Given the description of an element on the screen output the (x, y) to click on. 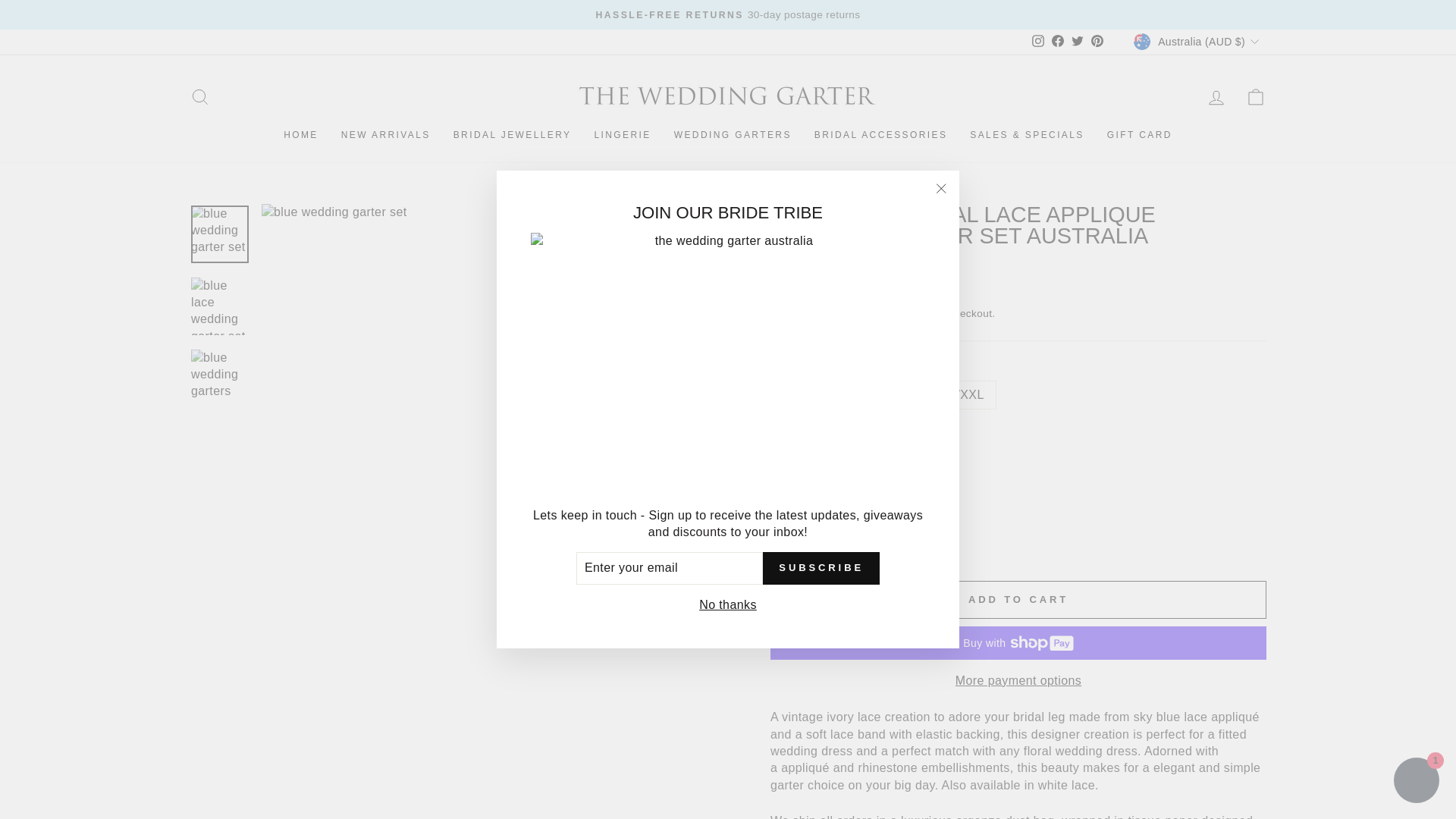
The Wedding Garter on Instagram (1037, 42)
The Wedding Garter on Twitter (1077, 42)
The Wedding Garter on Pinterest (1096, 42)
The Wedding Garter on Facebook (1057, 42)
